Given the description of an element on the screen output the (x, y) to click on. 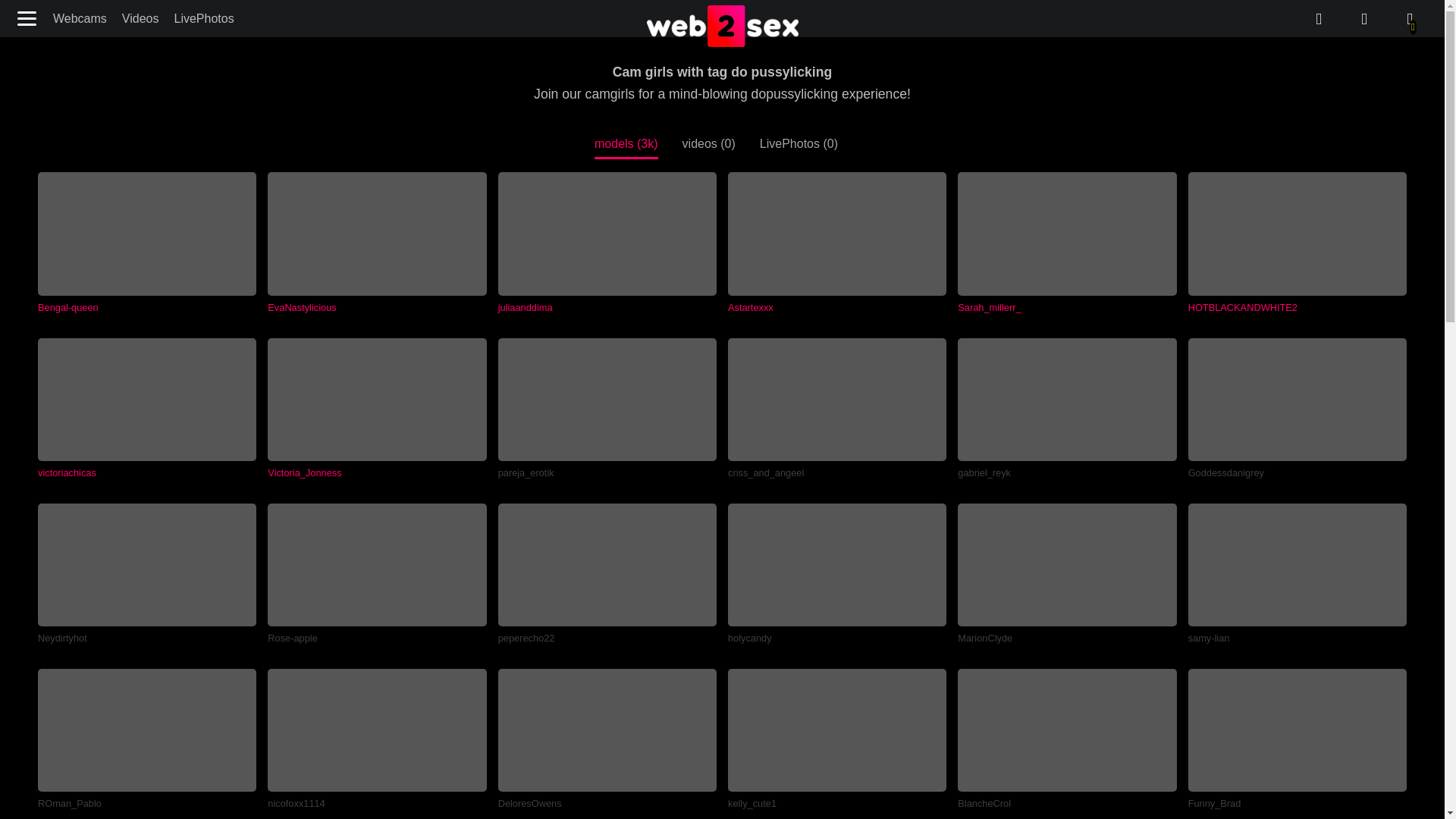
EvaNastylicious (376, 241)
HOTBLACKANDWHITE2 (1297, 241)
Goddessdanigrey (1297, 408)
web2sex.com Sex Chat and Live XXX Porn Shows (721, 26)
Bengal-queen (146, 241)
MarionClyde (1067, 573)
Astartexxx (837, 241)
juliaanddima (606, 241)
victoriachicas (146, 408)
Rose-apple (376, 573)
